Given the description of an element on the screen output the (x, y) to click on. 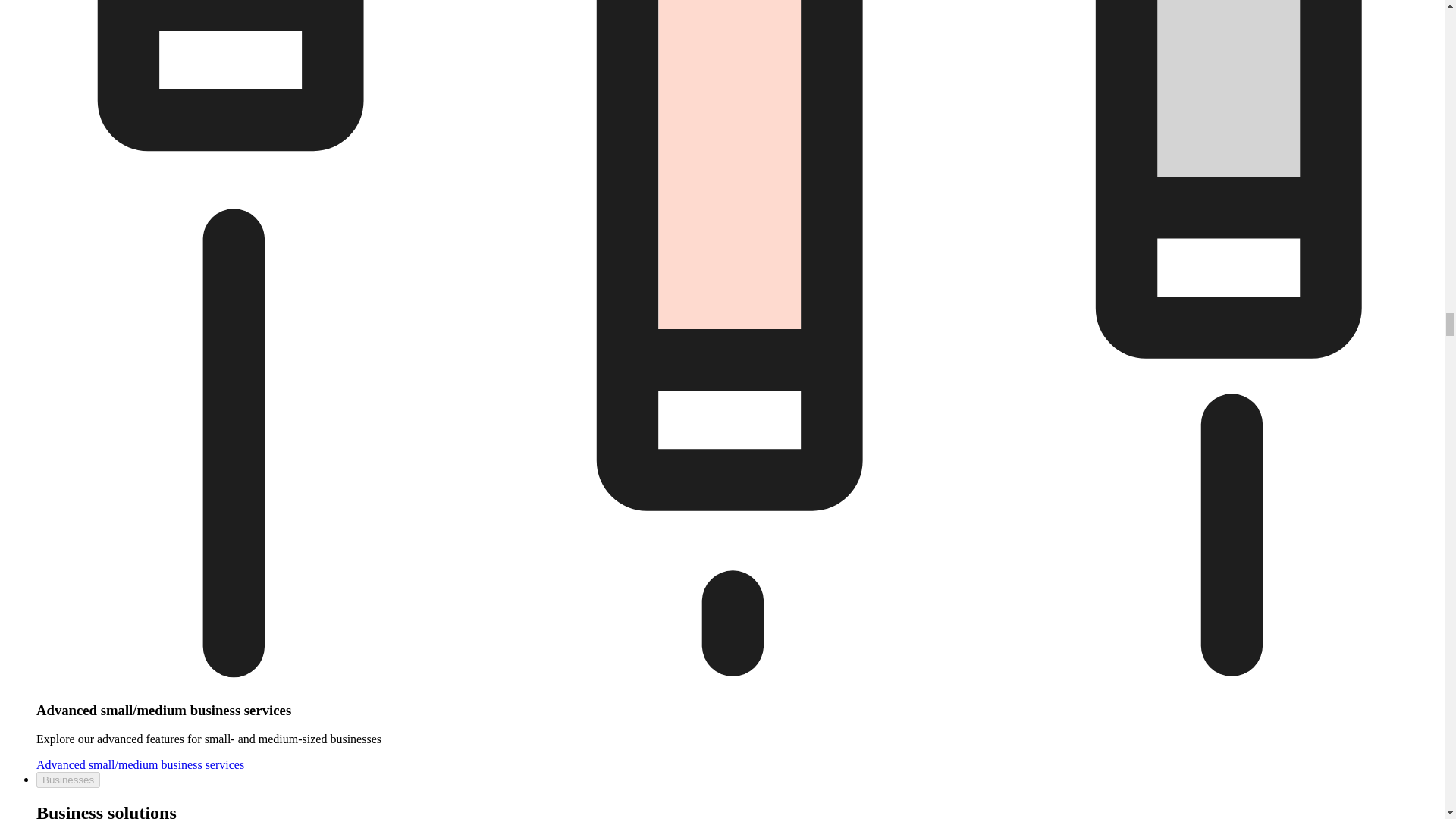
Businesses (68, 779)
